Given the description of an element on the screen output the (x, y) to click on. 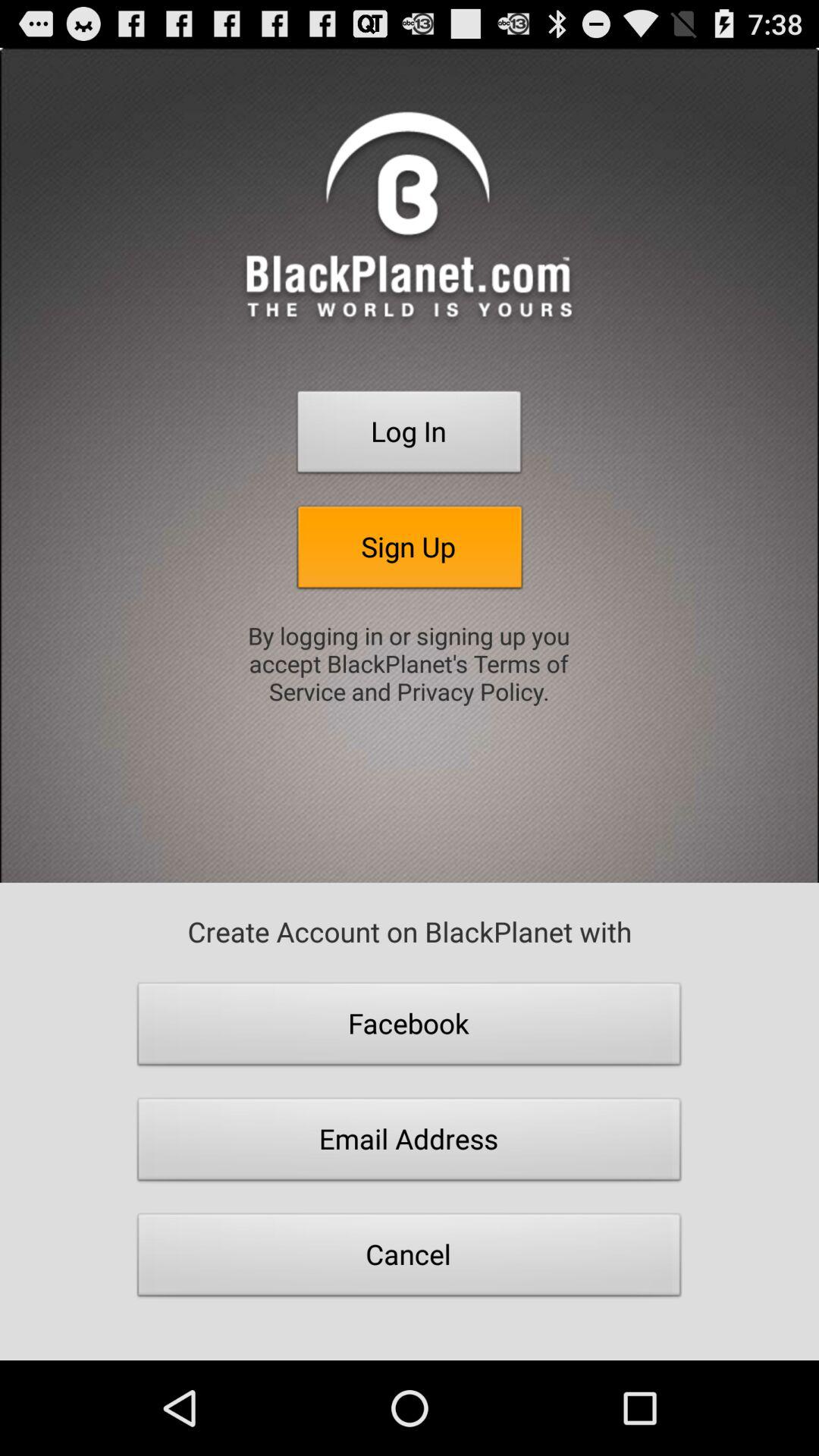
open the button above the cancel item (409, 1143)
